Given the description of an element on the screen output the (x, y) to click on. 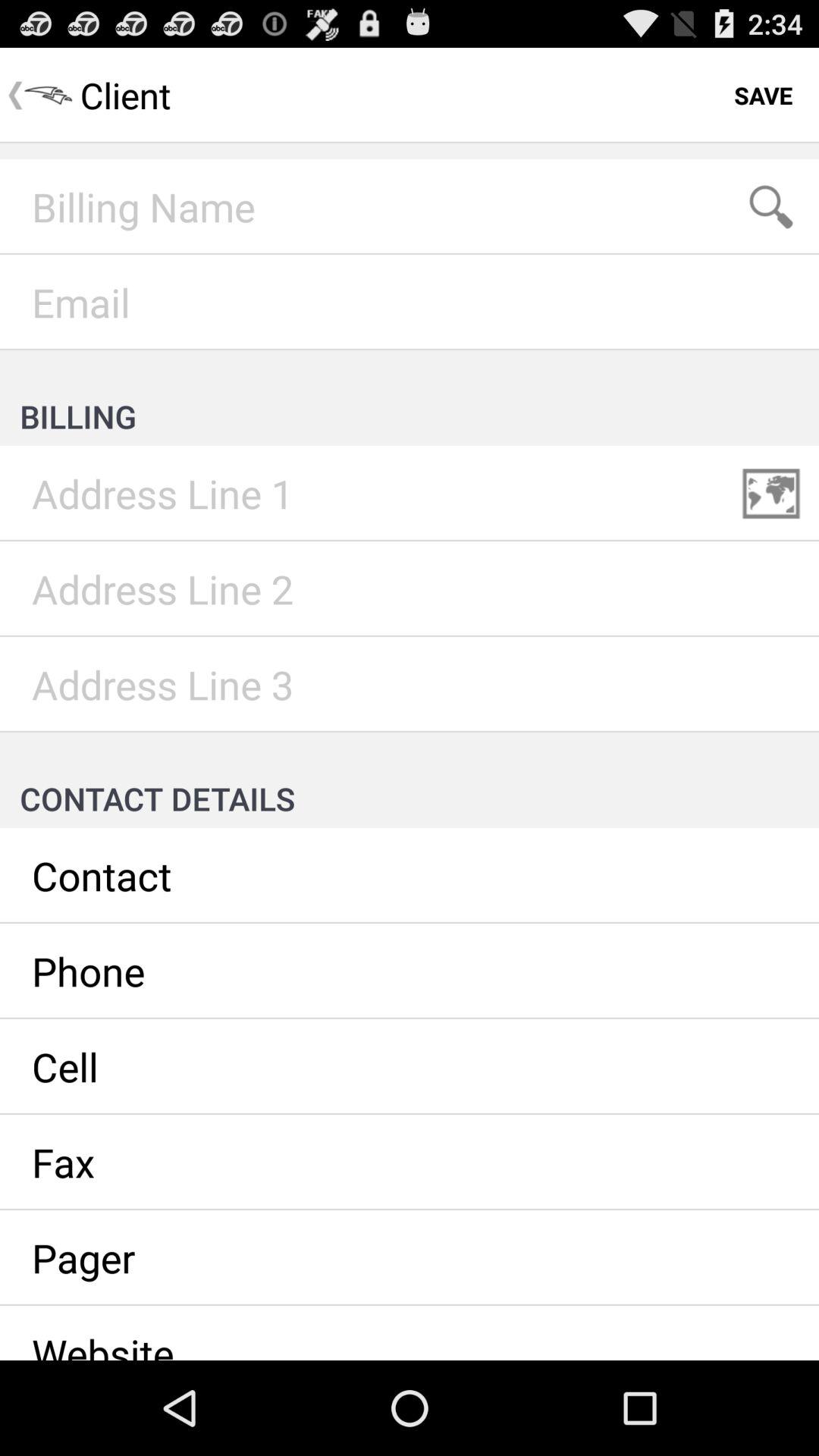
see pager details (409, 1257)
